Given the description of an element on the screen output the (x, y) to click on. 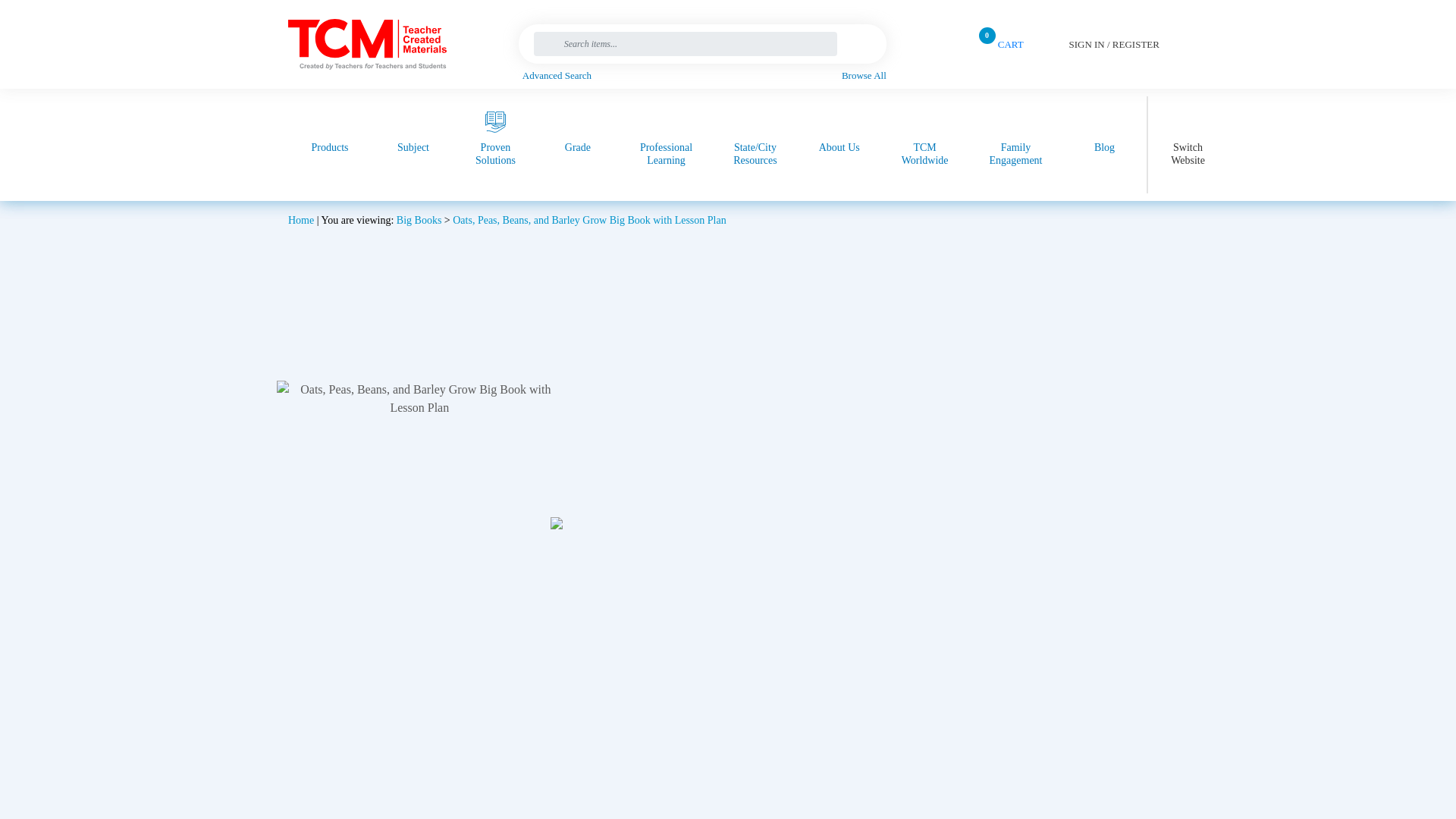
Oats, Peas, Beans, and Barley Grow Big Book with Lesson Plan (588, 220)
Advanced Search (704, 75)
Browse All (863, 75)
Big Books (419, 220)
Advanced Search (704, 75)
Browse All (863, 75)
Products (329, 144)
